Given the description of an element on the screen output the (x, y) to click on. 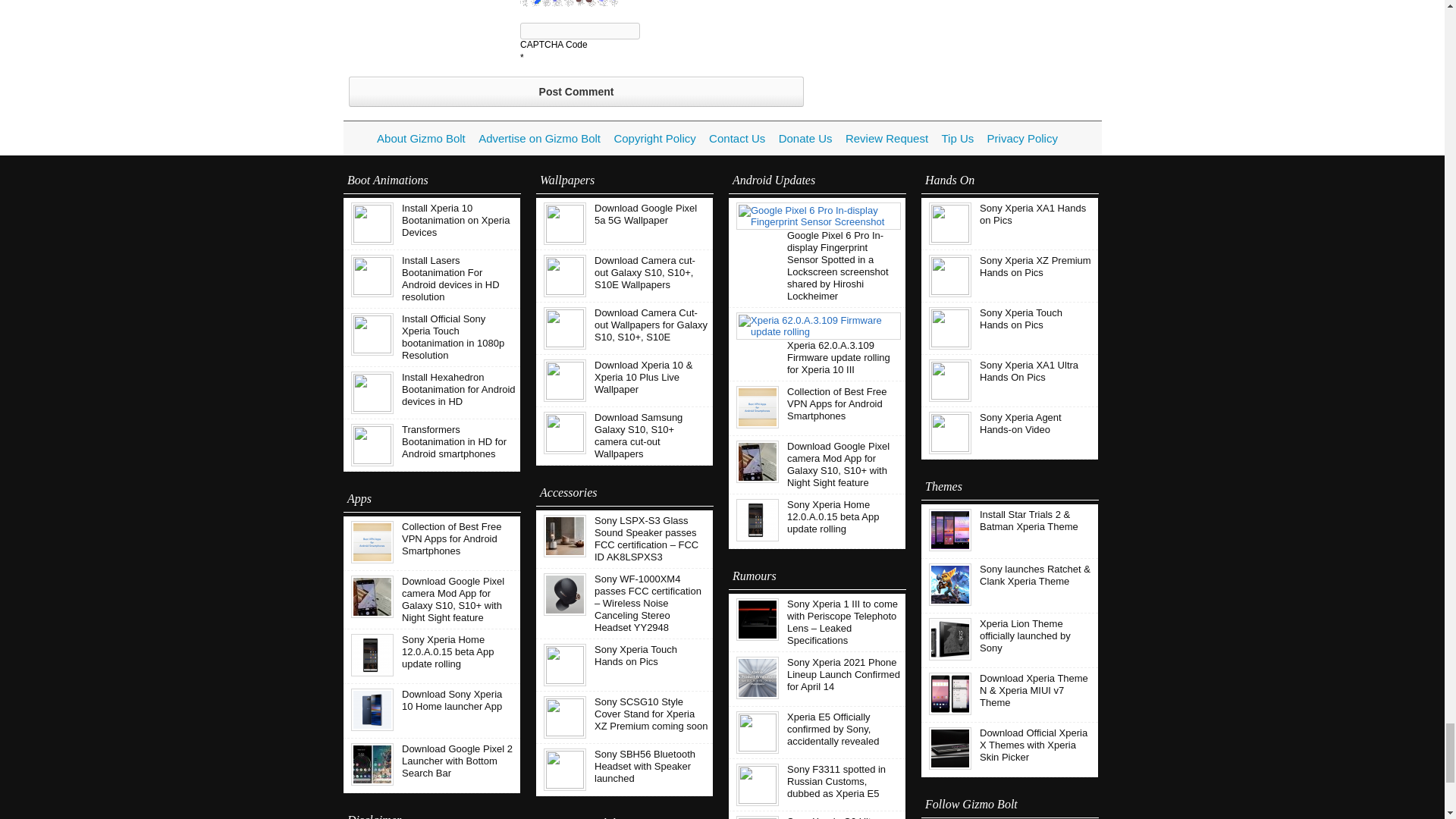
 Post Comment  (576, 91)
